Given the description of an element on the screen output the (x, y) to click on. 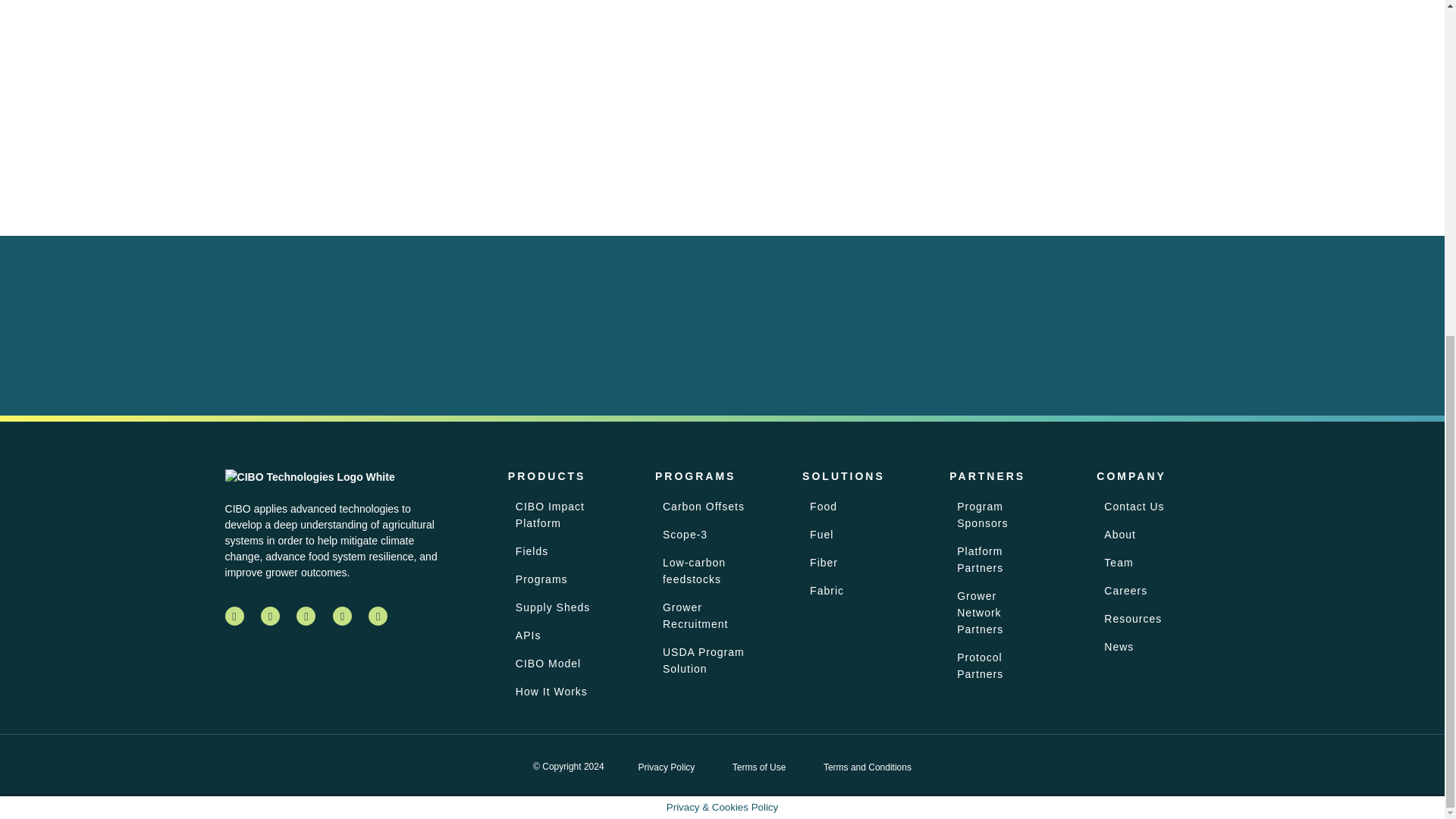
CIBO Technologies Logo White (309, 477)
